Given the description of an element on the screen output the (x, y) to click on. 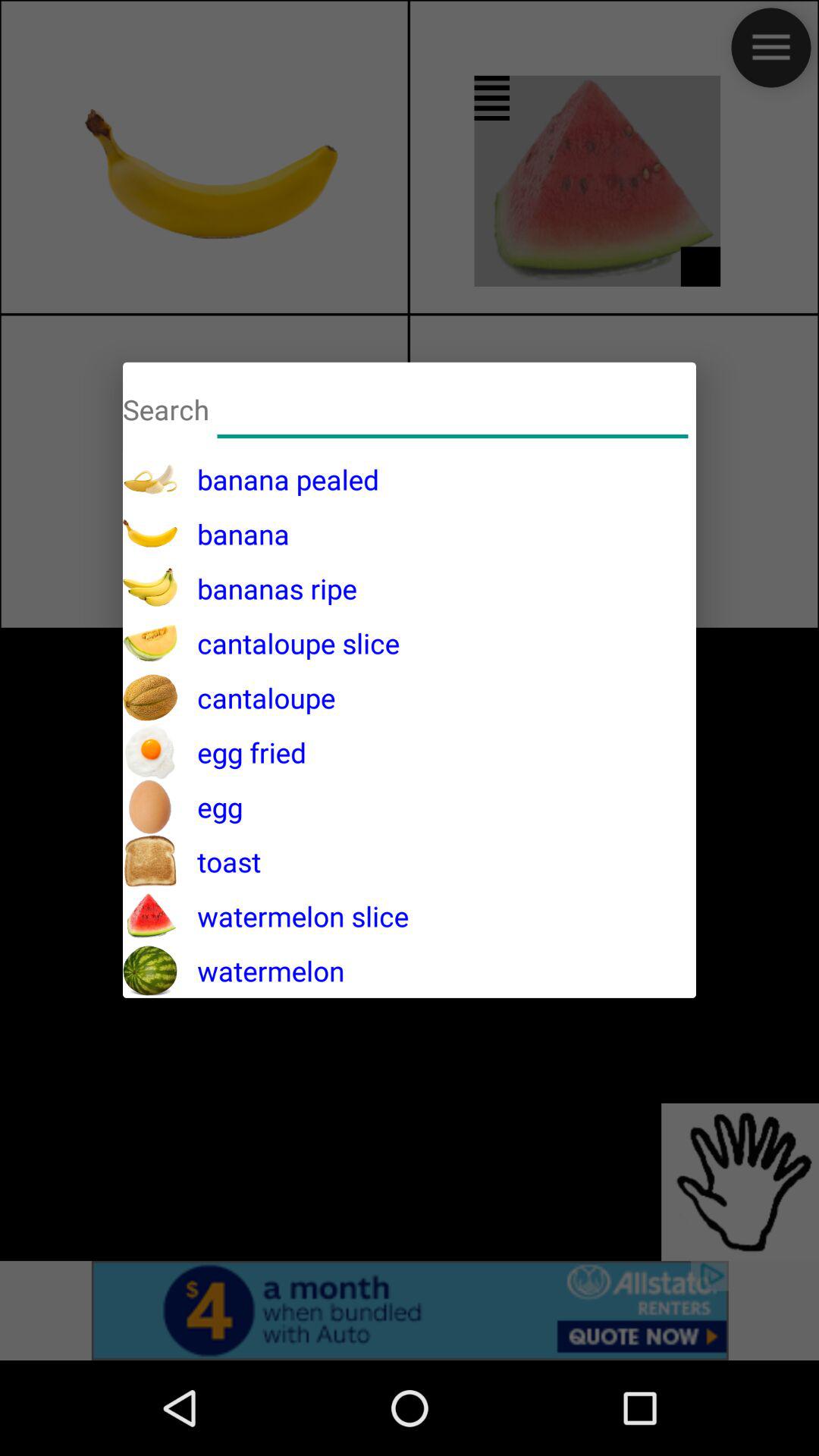
select toast app (219, 861)
